Given the description of an element on the screen output the (x, y) to click on. 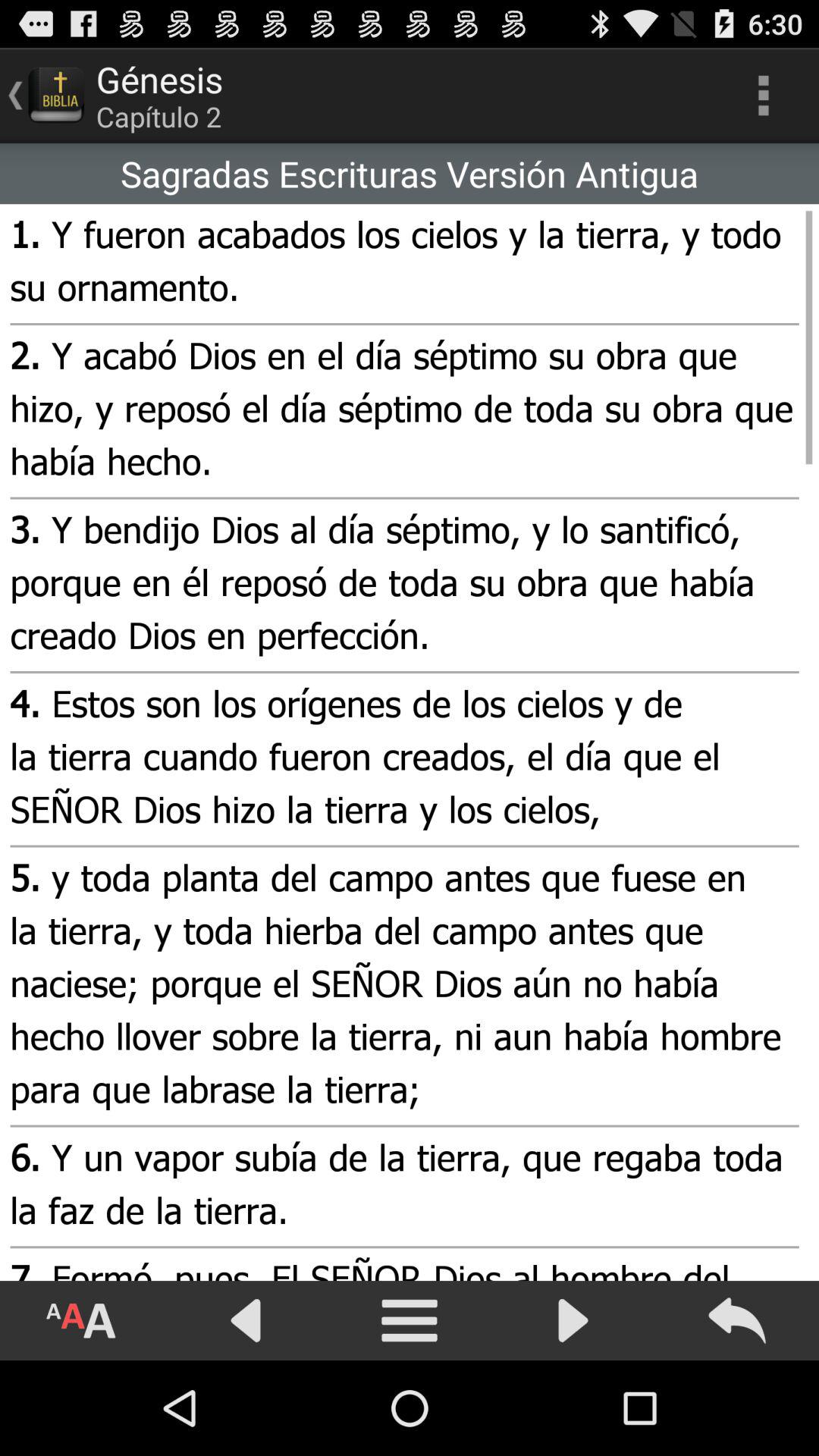
choose the icon above the 1 y fueron (409, 173)
